Given the description of an element on the screen output the (x, y) to click on. 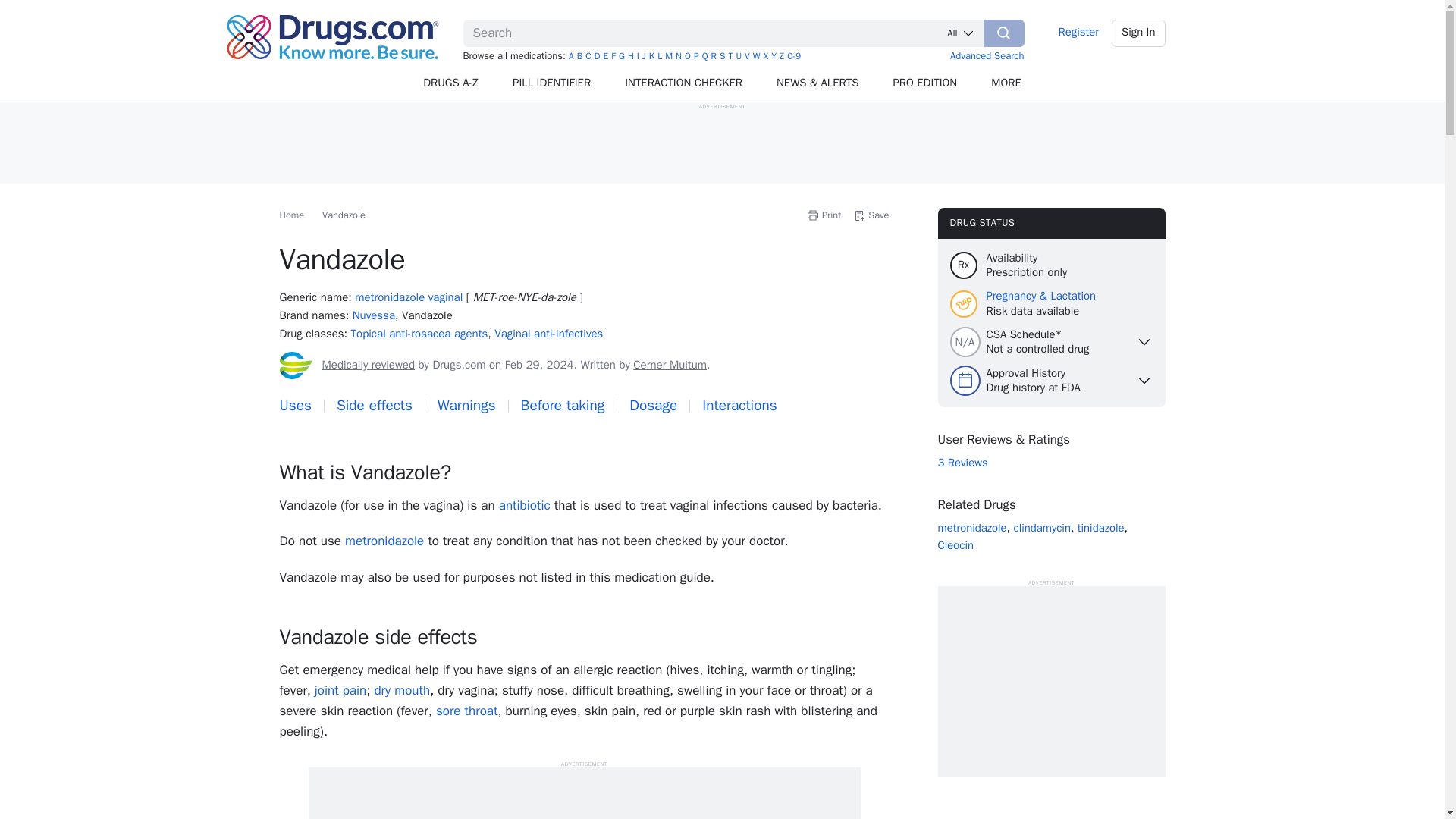
Register (1078, 32)
PILL IDENTIFIER (551, 83)
0-9 (793, 55)
Advanced Search (987, 55)
DRUGS A-Z (450, 83)
Search (1004, 32)
Sign In (1139, 32)
